Given the description of an element on the screen output the (x, y) to click on. 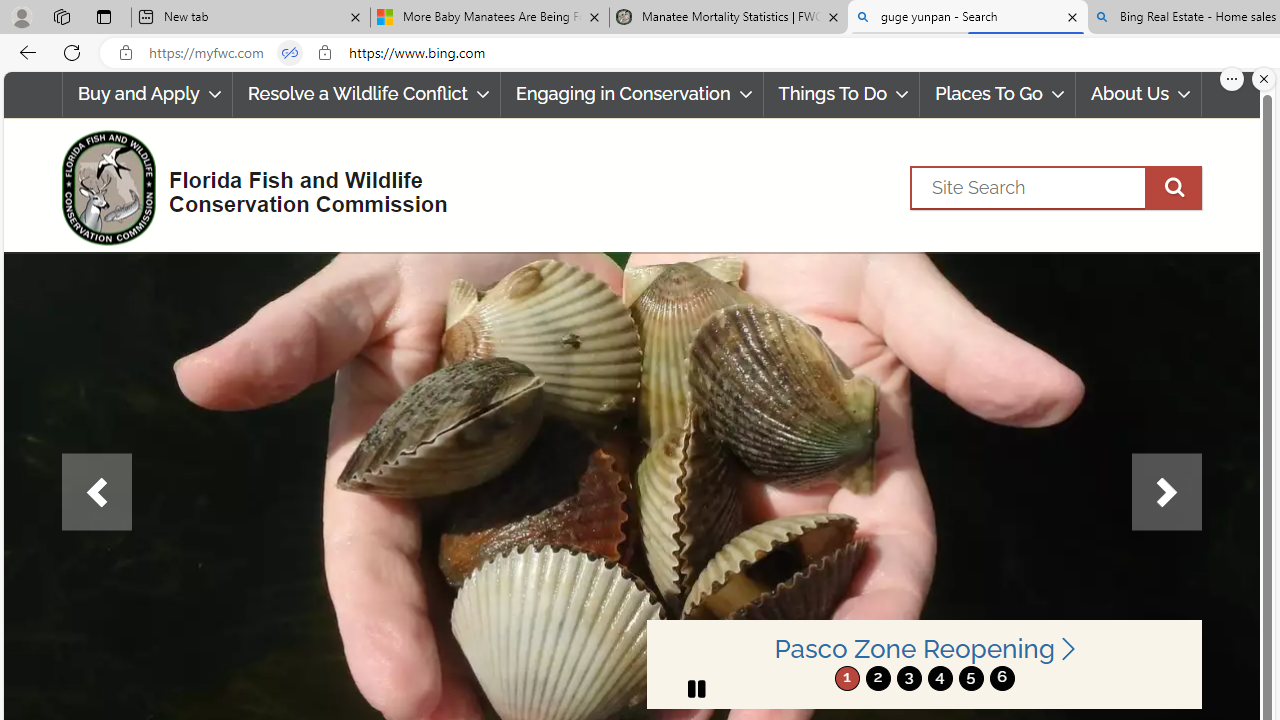
move to slide 6 (1002, 678)
